Given the description of an element on the screen output the (x, y) to click on. 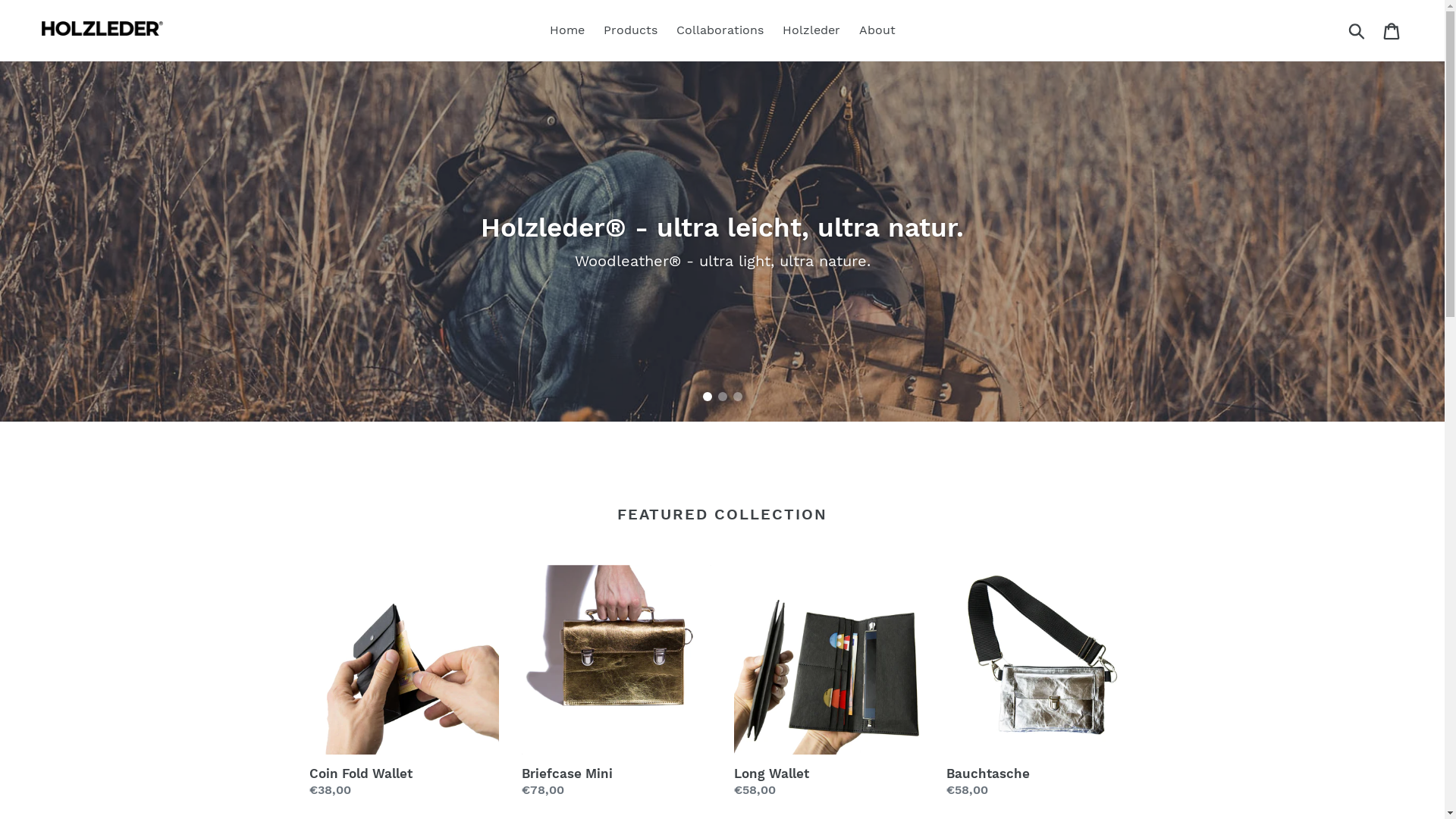
Home Element type: text (566, 29)
Einkaufswagen Element type: text (1392, 30)
Long Wallet Element type: text (828, 681)
Products Element type: text (630, 29)
Bauchtasche Element type: text (1040, 681)
About Element type: text (876, 29)
Coin Fold Wallet Element type: text (403, 681)
Collaborations Element type: text (719, 29)
Slide 3 Element type: text (736, 396)
Suchen Element type: text (1357, 30)
Slide 1 Element type: text (706, 396)
Slide 2 Element type: text (721, 396)
Briefcase Mini Element type: text (616, 681)
Holzleder Element type: text (811, 29)
